Given the description of an element on the screen output the (x, y) to click on. 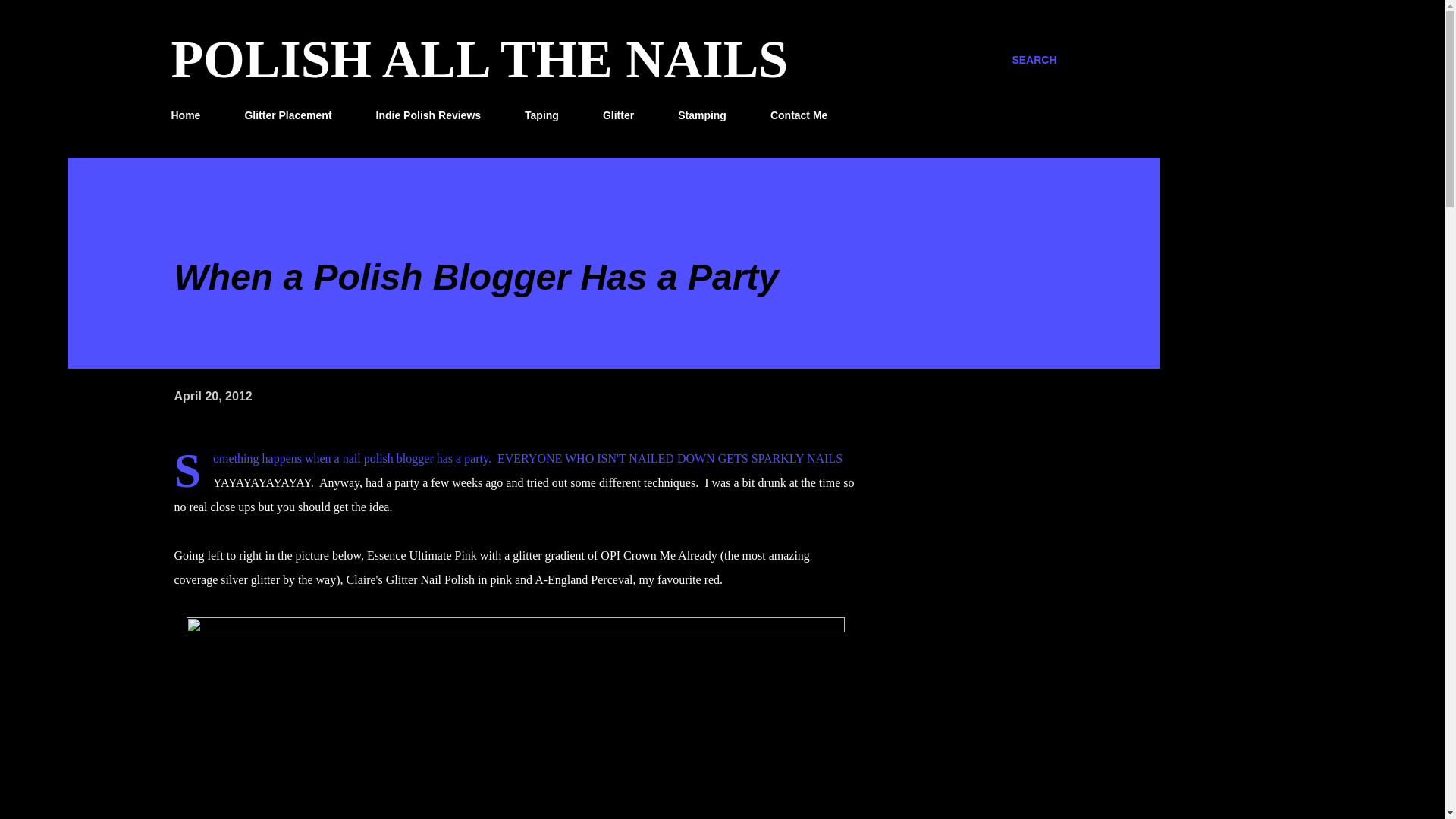
Taping (541, 114)
Indie Polish Reviews (428, 114)
Home (190, 114)
Glitter Placement (287, 114)
Stamping (701, 114)
Glitter (618, 114)
Contact Me (798, 114)
permanent link (212, 395)
POLISH ALL THE NAILS (480, 59)
April 20, 2012 (212, 395)
